Given the description of an element on the screen output the (x, y) to click on. 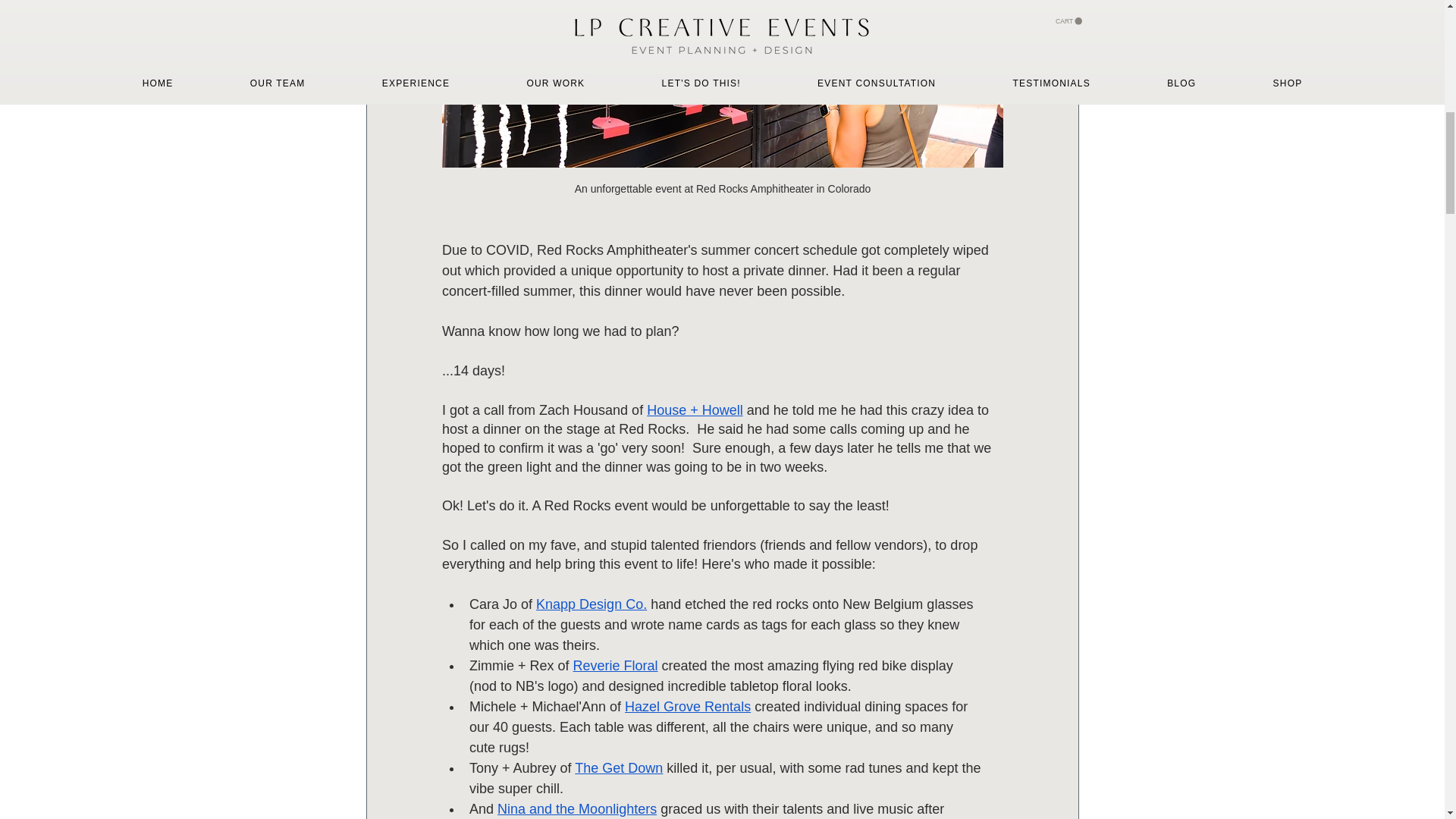
Knapp Design Co. (590, 604)
Reverie Floral (615, 665)
Nina and the Moonlighters (576, 808)
The Get Down (618, 767)
Hazel Grove Rentals (687, 706)
